Given the description of an element on the screen output the (x, y) to click on. 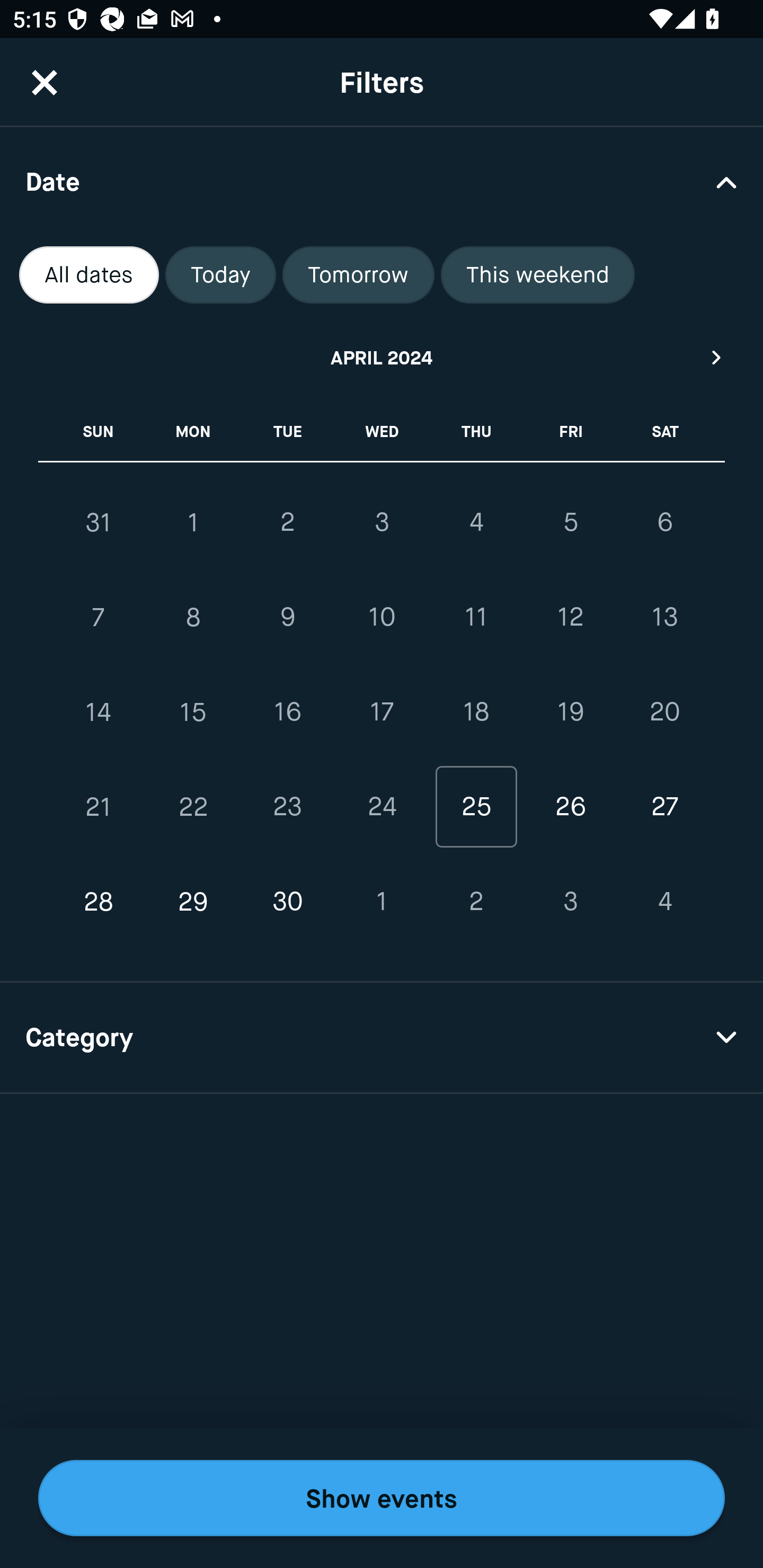
CloseButton (44, 82)
Date Drop Down Arrow (381, 181)
All dates (88, 274)
Today (220, 274)
Tomorrow (358, 274)
This weekend (537, 274)
Next (717, 357)
31 (98, 522)
1 (192, 522)
2 (287, 522)
3 (381, 522)
4 (475, 522)
5 (570, 522)
6 (664, 522)
7 (98, 617)
8 (192, 617)
9 (287, 617)
10 (381, 617)
11 (475, 617)
12 (570, 617)
13 (664, 617)
14 (98, 711)
15 (192, 711)
16 (287, 711)
17 (381, 711)
18 (475, 711)
19 (570, 711)
20 (664, 711)
21 (98, 806)
22 (192, 806)
23 (287, 806)
24 (381, 806)
25 (475, 806)
26 (570, 806)
27 (664, 806)
28 (98, 901)
29 (192, 901)
30 (287, 901)
1 (381, 901)
2 (475, 901)
3 (570, 901)
4 (664, 901)
Category Drop Down Arrow (381, 1038)
Show events (381, 1497)
